Given the description of an element on the screen output the (x, y) to click on. 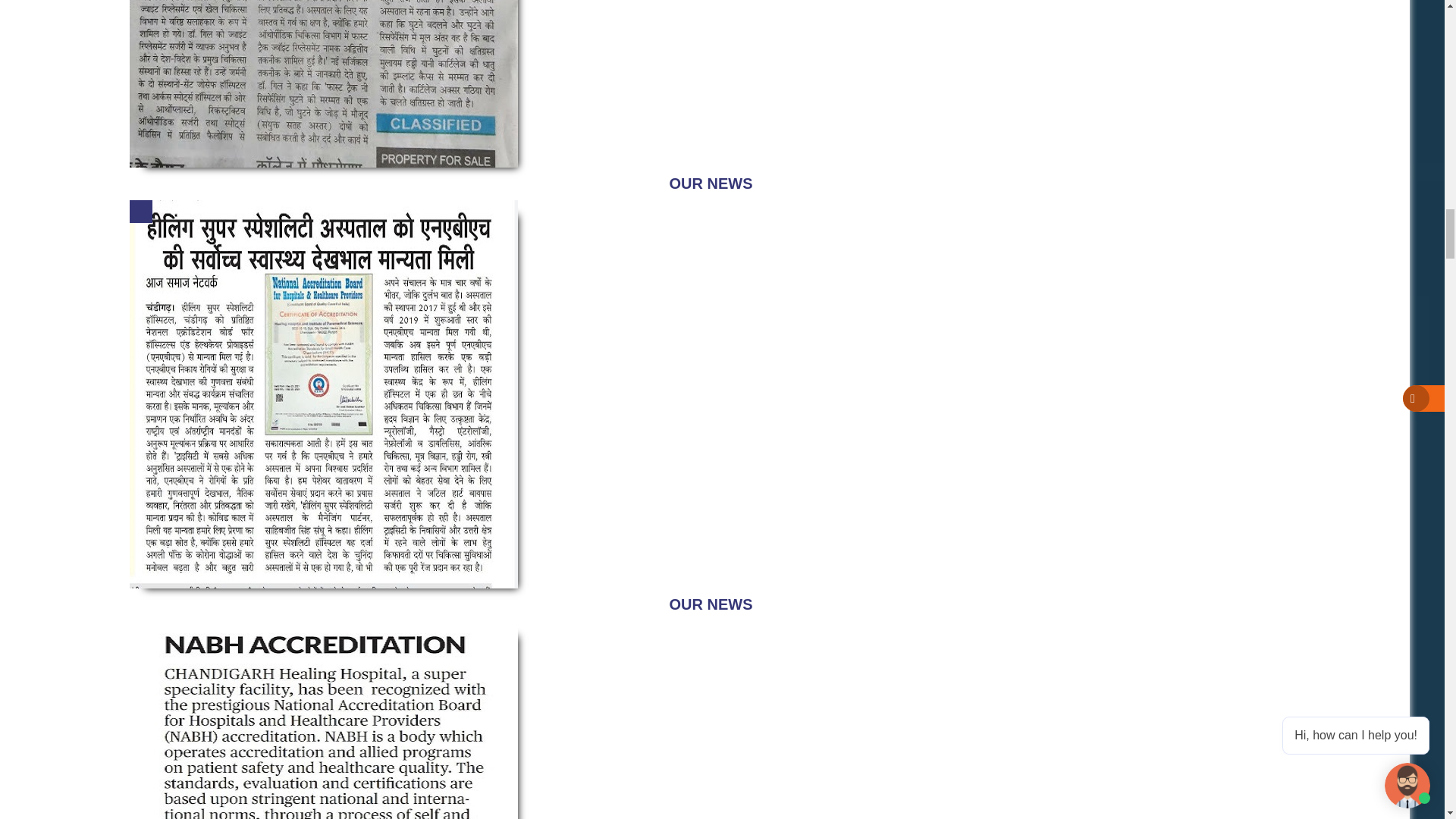
Previous (140, 210)
